Given the description of an element on the screen output the (x, y) to click on. 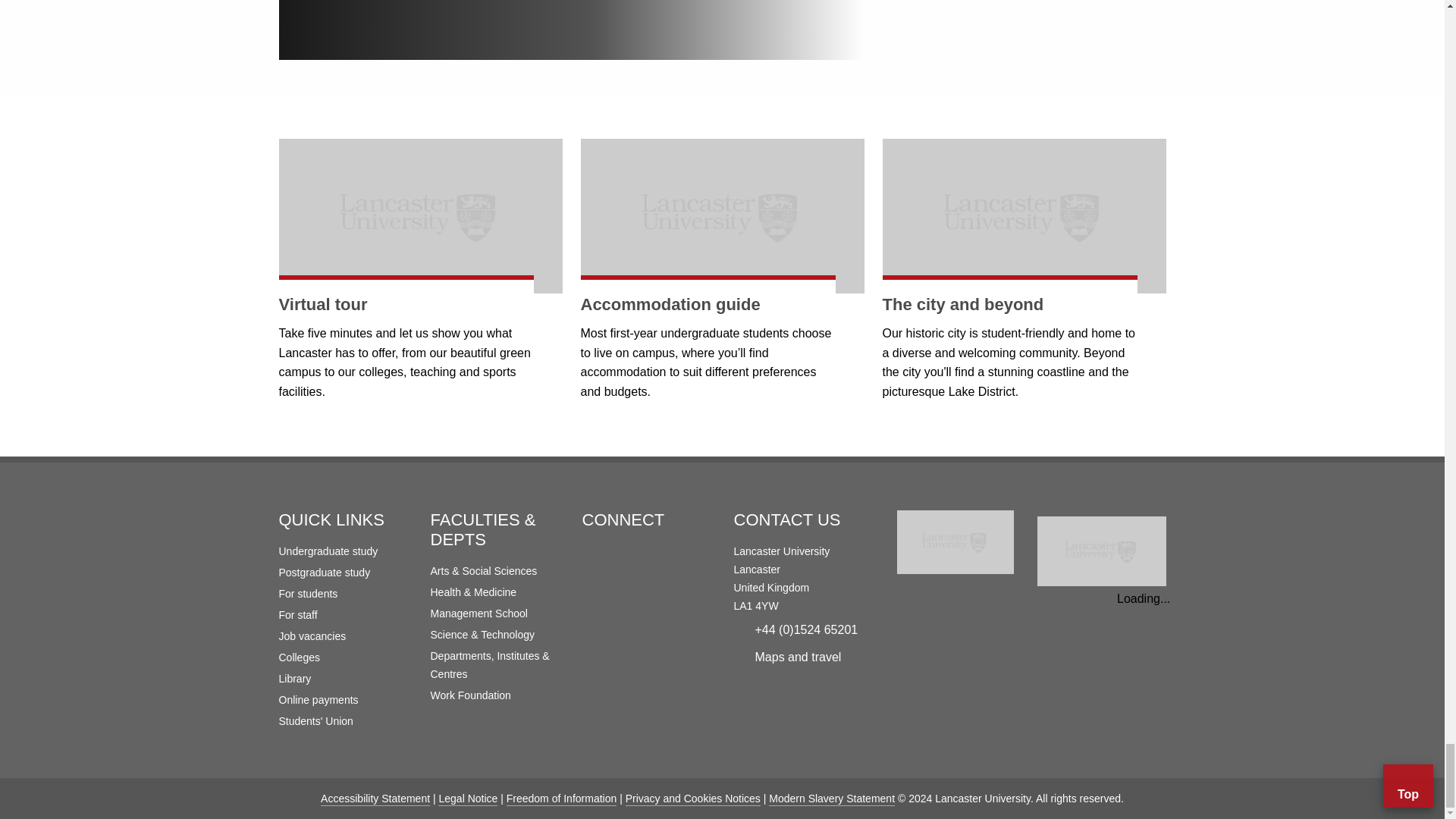
Full 2025 World University Rankings. (1101, 554)
